Given the description of an element on the screen output the (x, y) to click on. 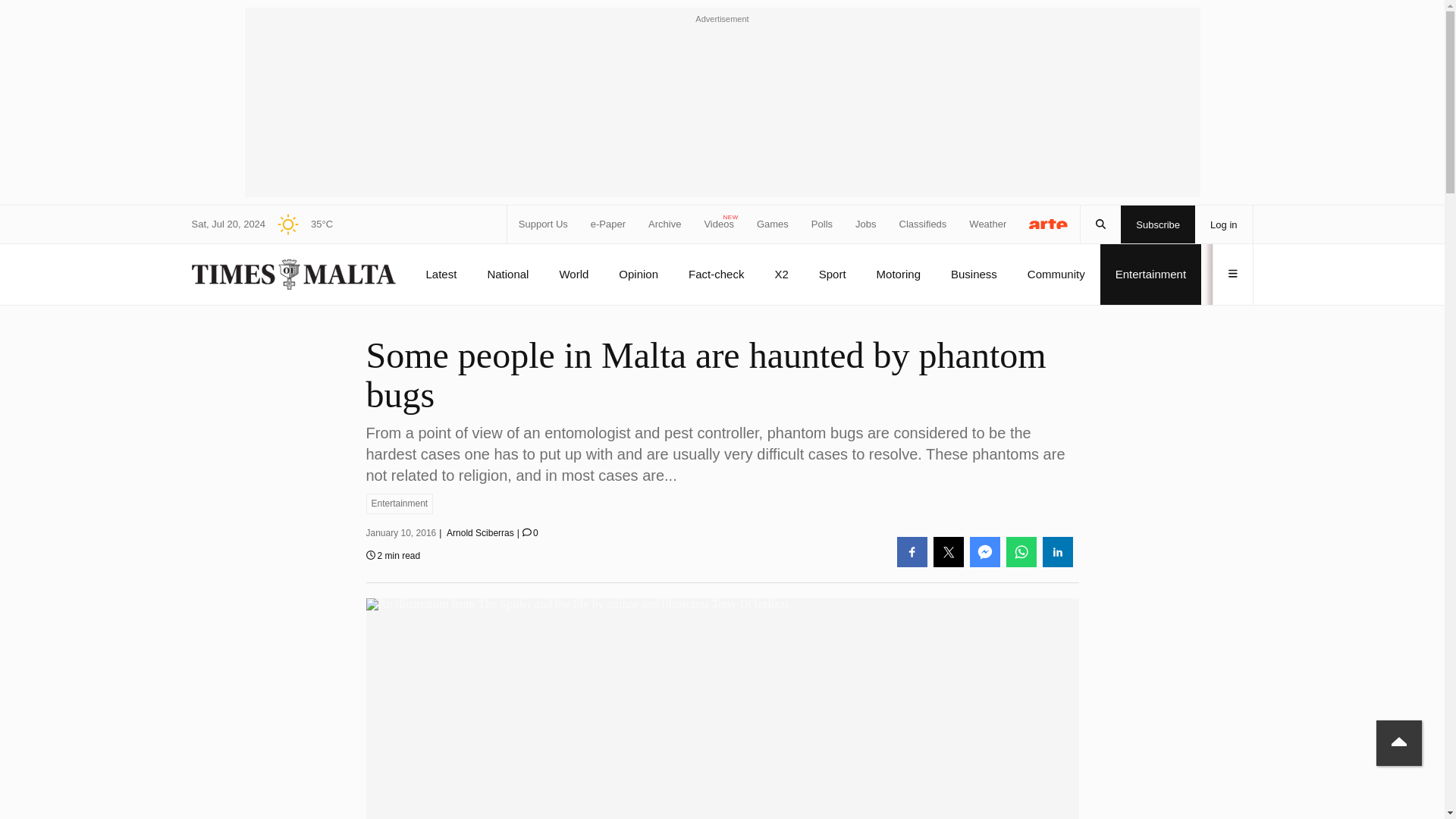
ARTE (1048, 223)
0 (530, 532)
Subscribe (1158, 224)
Entertainment (398, 503)
Log in (1223, 224)
Classifieds (923, 224)
Support Us (542, 224)
Fact-check (716, 274)
Community (1055, 274)
Weather (987, 224)
Additional weather information (298, 224)
Entertainment (1150, 274)
e-Paper (608, 224)
